Given the description of an element on the screen output the (x, y) to click on. 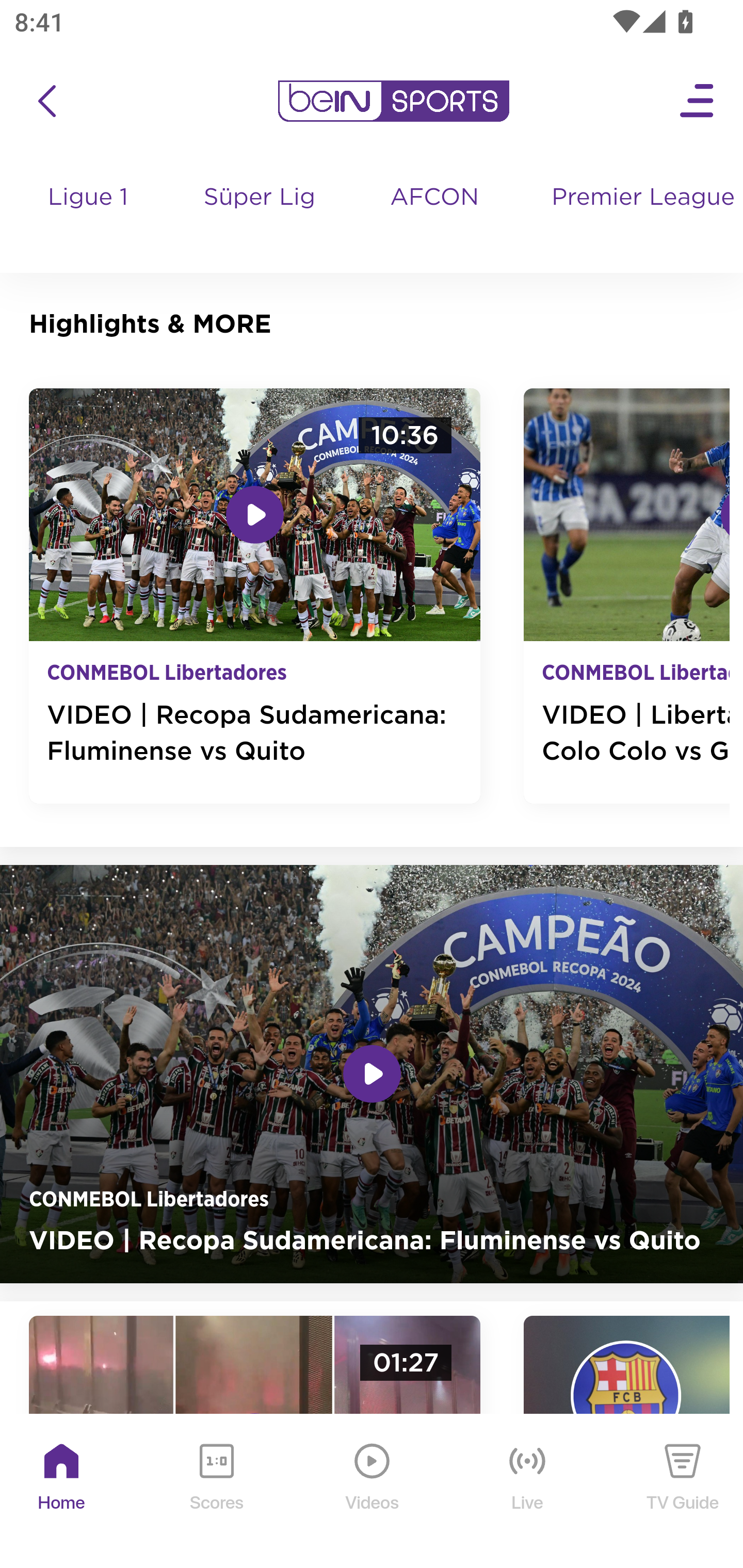
en-us?platform=mobile_android bein logo (392, 101)
icon back (46, 101)
Open Menu Icon (697, 101)
Ligue 1 (89, 216)
Süper Lig (260, 216)
AFCON (433, 198)
Premier League (639, 198)
Home Home Icon Home (61, 1491)
Scores Scores Icon Scores (216, 1491)
Videos Videos Icon Videos (372, 1491)
TV Guide TV Guide Icon TV Guide (682, 1491)
